Given the description of an element on the screen output the (x, y) to click on. 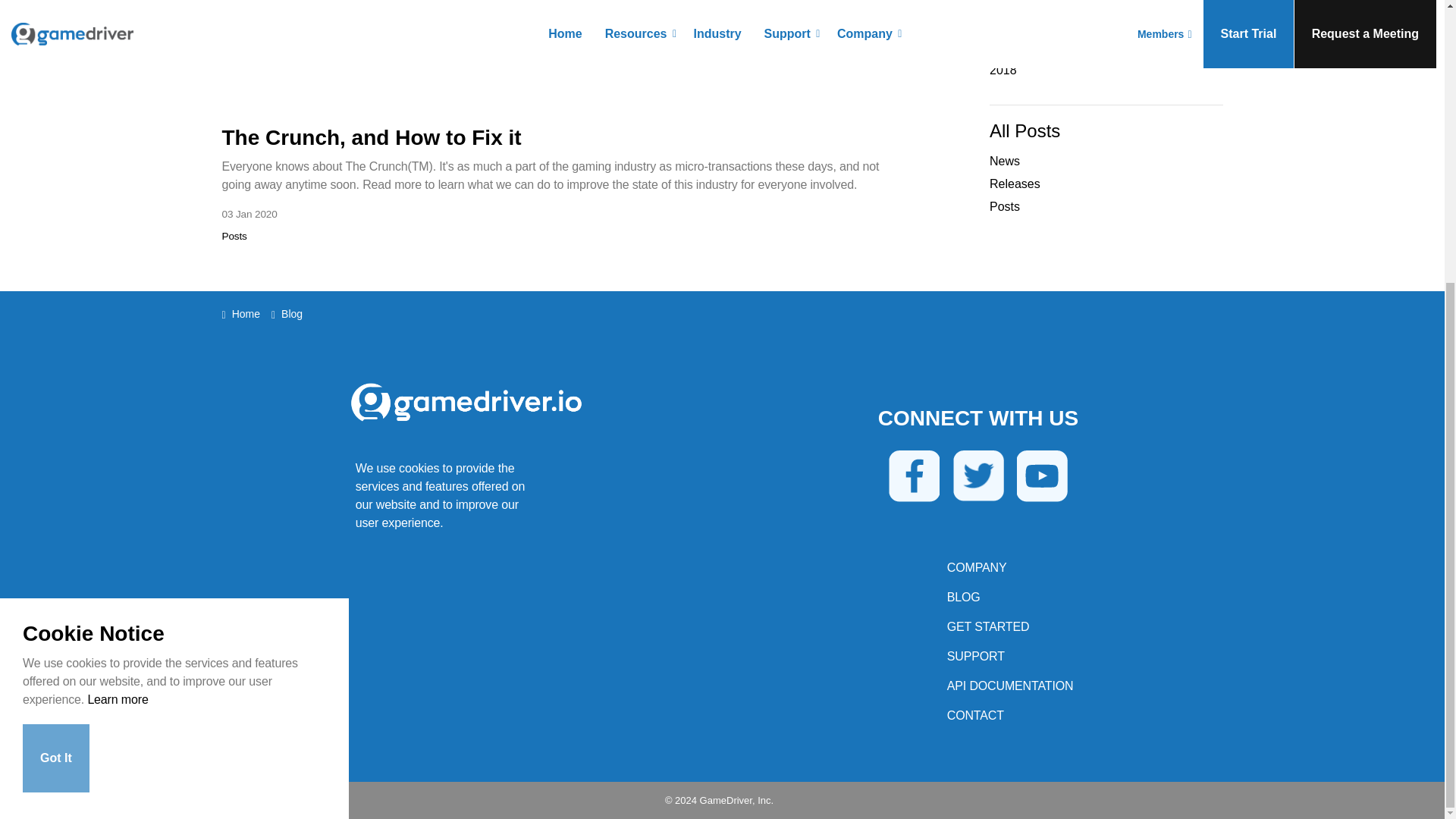
Blog (963, 596)
Contact (975, 715)
Posts (233, 235)
GameDriver on Twitter (977, 474)
GameDriver on Facebook (913, 474)
Order checkout (988, 626)
Posts (233, 235)
About (977, 567)
GameDriver.io on YouTube (1041, 474)
